Given the description of an element on the screen output the (x, y) to click on. 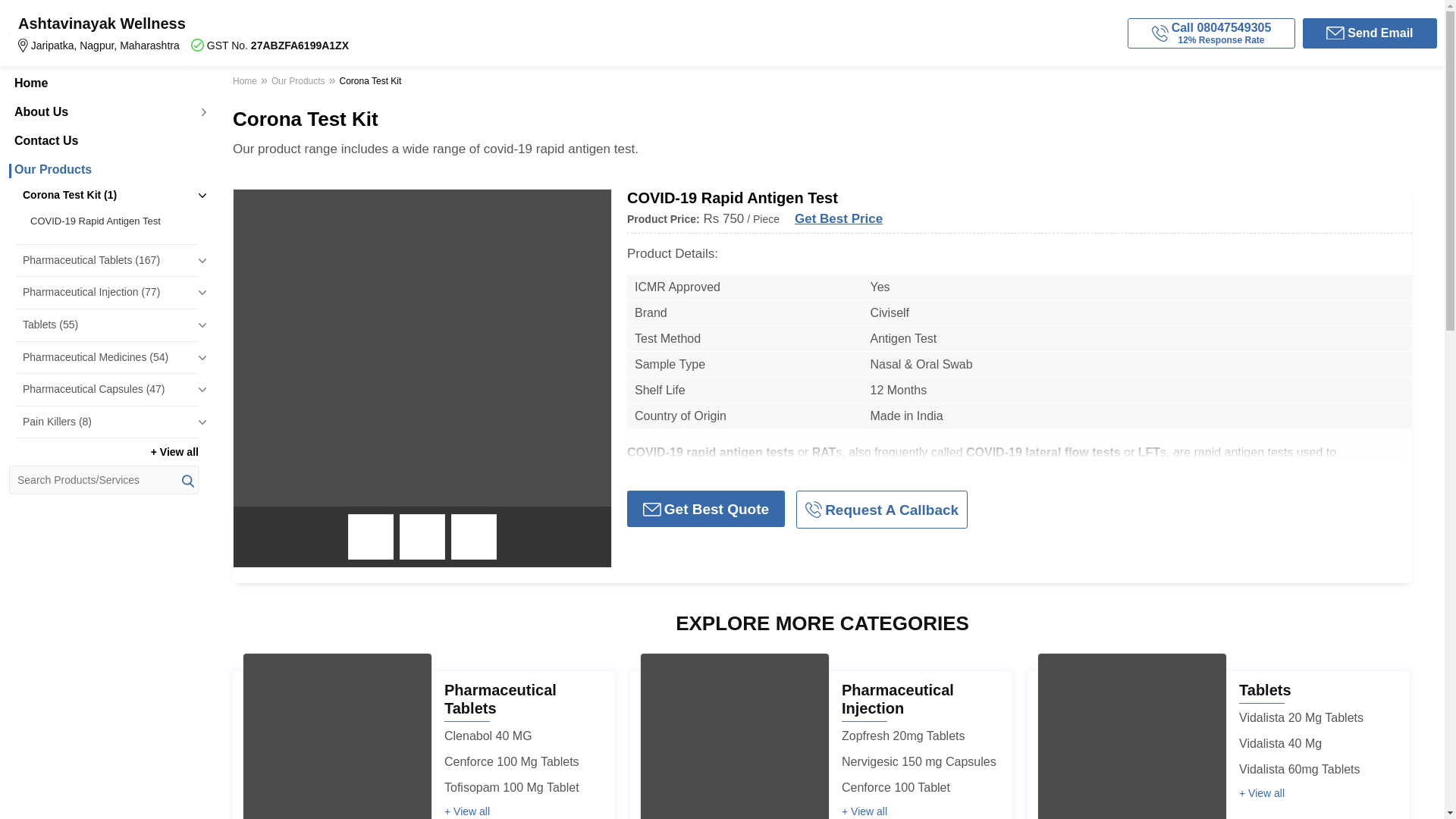
Our Products (103, 169)
Home (103, 82)
COVID-19 Rapid Antigen Test (110, 221)
Contact Us (103, 141)
About Us (103, 111)
